Given the description of an element on the screen output the (x, y) to click on. 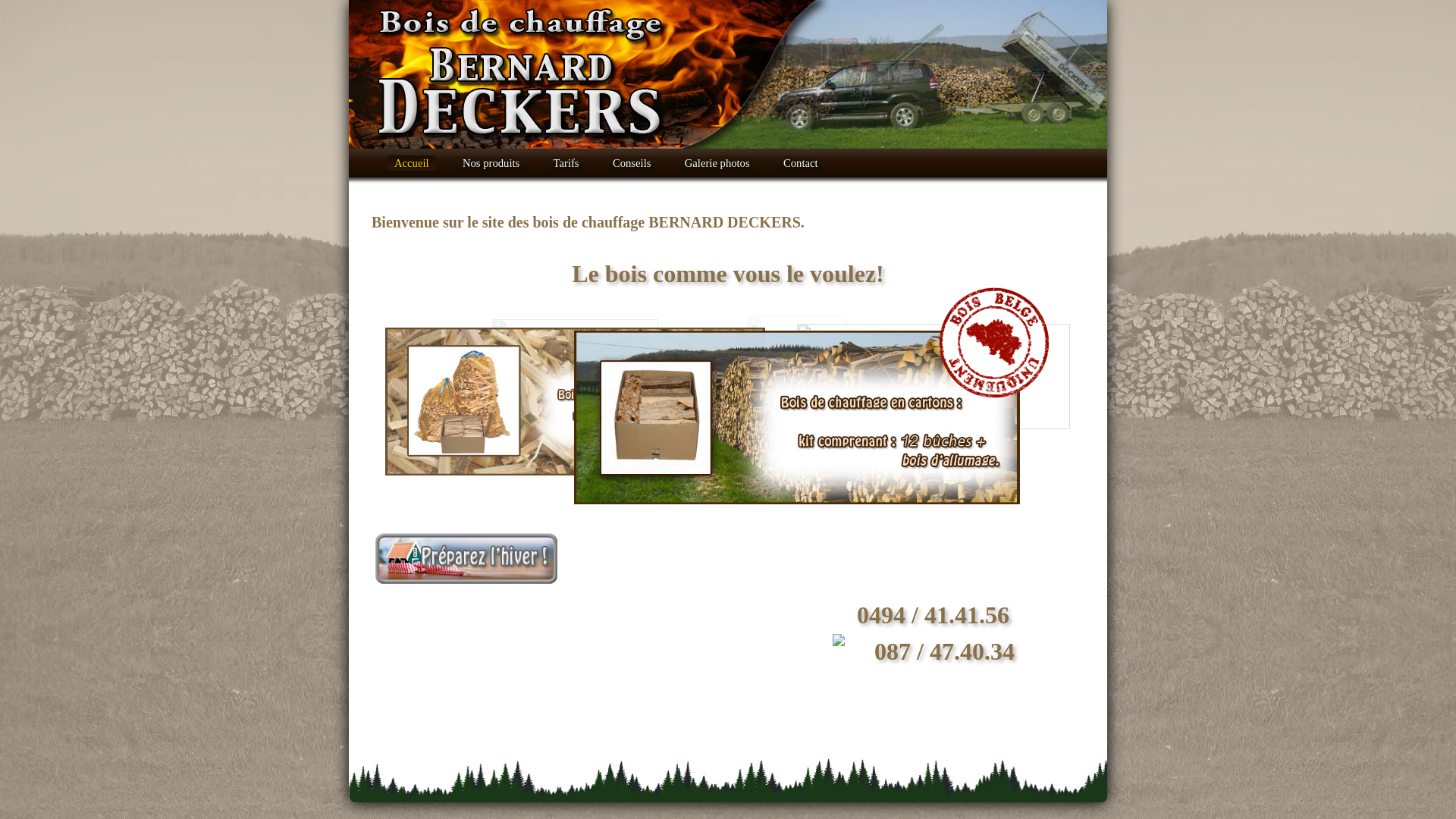
Accueil Element type: text (411, 162)
Nos produits Element type: text (491, 162)
Tarifs Element type: text (566, 162)
Conseils Element type: text (631, 162)
Galerie photos Element type: text (717, 162)
Contact Element type: text (800, 162)
